Given the description of an element on the screen output the (x, y) to click on. 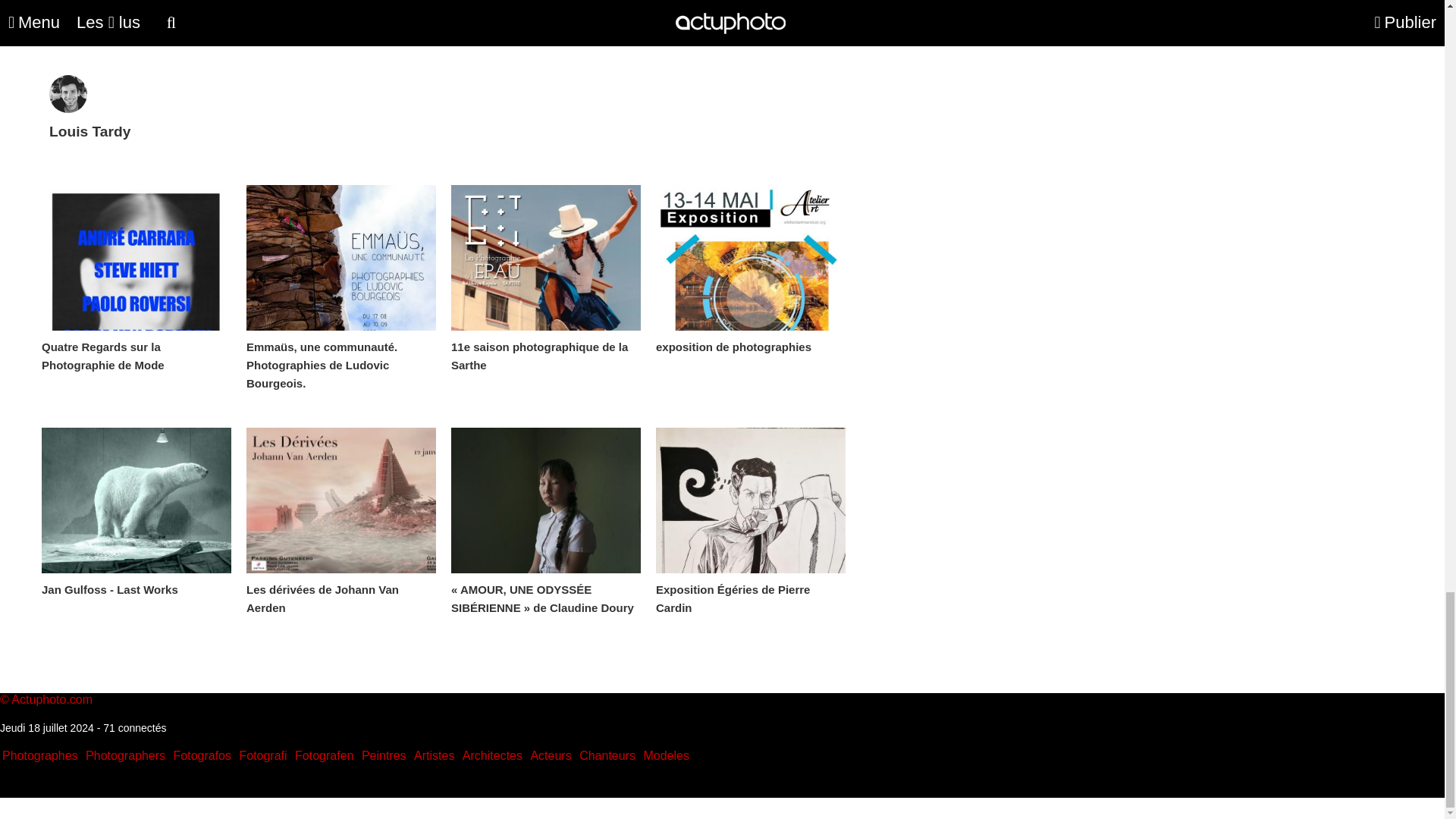
Actuphoto.com (52, 698)
Jan Gulfoss - Last Works (136, 500)
Artistes (433, 755)
Fotografi (262, 755)
Photographes (40, 755)
Fotografen (324, 755)
Louis Tardy (90, 119)
Fotografos (202, 755)
Fotografos (202, 755)
Quatre Regards sur la Photographie de Mode (136, 257)
Architectes (492, 755)
Photographers (125, 755)
Fotografen (324, 755)
Fotografi (262, 755)
Acteurs (549, 755)
